Given the description of an element on the screen output the (x, y) to click on. 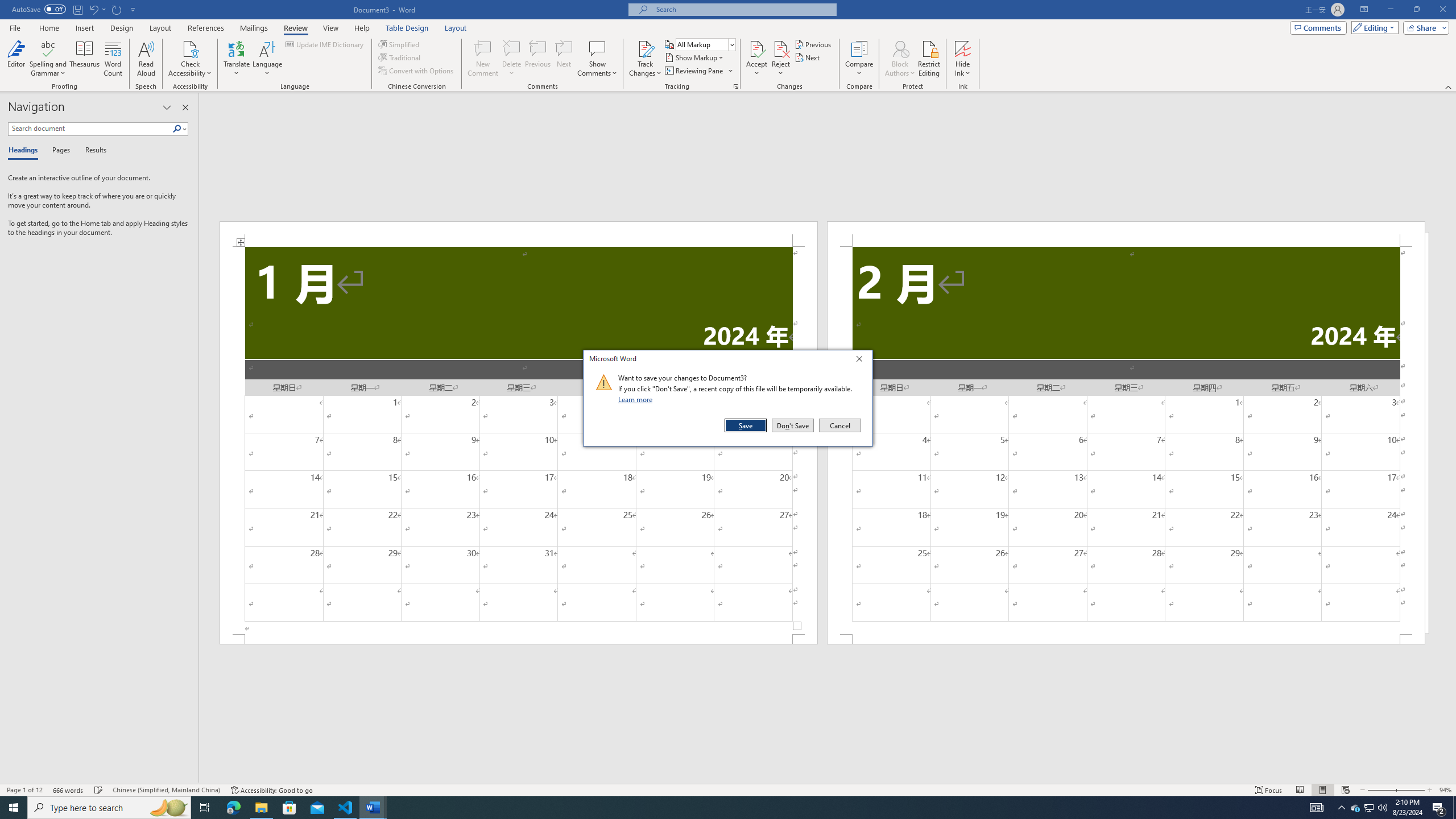
Reject (780, 58)
Compare (859, 58)
Search (177, 128)
Language Chinese (Simplified, Mainland China) (165, 790)
Microsoft Edge (233, 807)
Design (122, 28)
Start (13, 807)
Show Markup (695, 56)
Mode (1372, 27)
Learn more (636, 399)
Zoom In (1410, 790)
Show desktop (1454, 807)
Next (808, 56)
New Comment (482, 58)
Task Pane Options (167, 107)
